Given the description of an element on the screen output the (x, y) to click on. 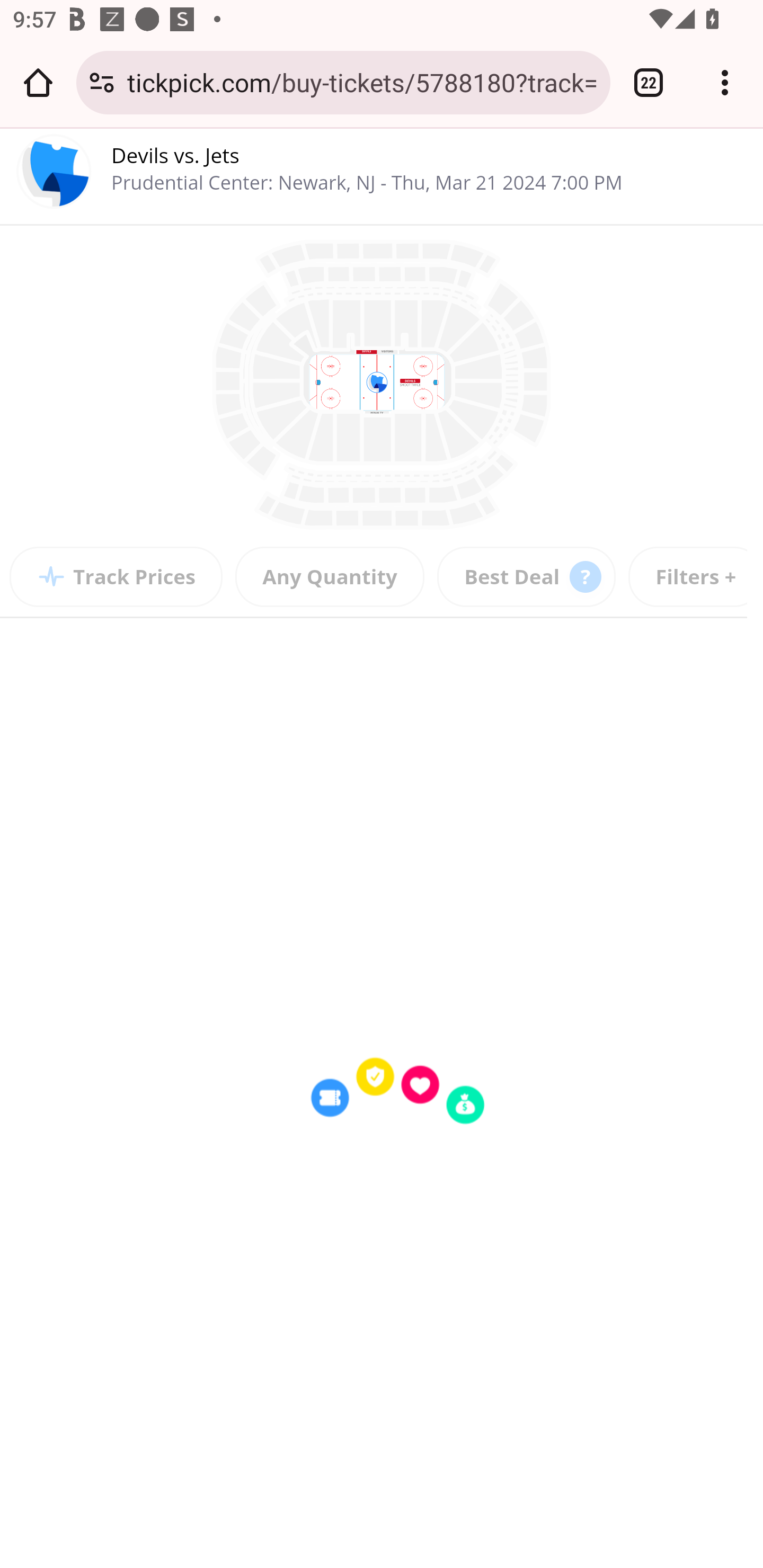
Open the home page (38, 82)
Connection is secure (101, 82)
Switch or close tabs (648, 82)
Customize and control Google Chrome (724, 82)
tickpick.com/buy-tickets/5788180?track=true (362, 82)
TickPick (54, 175)
Devils (140, 155)
Jets (222, 155)
Prudential Center: Newark, NJ  (246, 182)
Track Prices (116, 576)
Filters + (695, 576)
Filter by quantity (330, 576)
Sort By (526, 576)
